Given the description of an element on the screen output the (x, y) to click on. 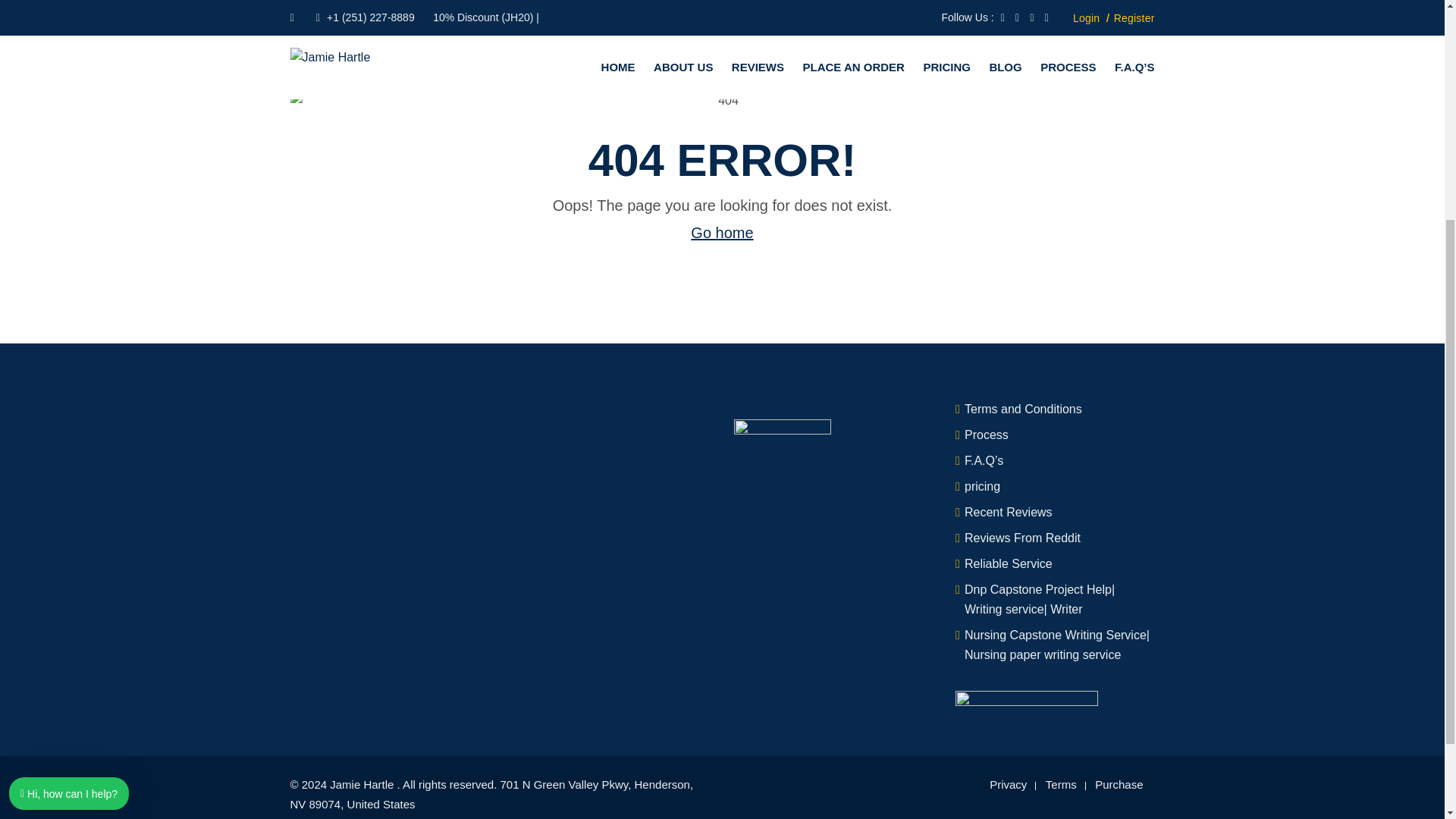
Process (986, 434)
Privacy (1008, 784)
pricing (981, 486)
Reliable Service (1007, 563)
Go home (721, 232)
Purchase (1118, 784)
Terms and Conditions (1022, 408)
Terms (1061, 784)
Reviews From Reddit (1021, 537)
Recent Reviews (1007, 512)
